Given the description of an element on the screen output the (x, y) to click on. 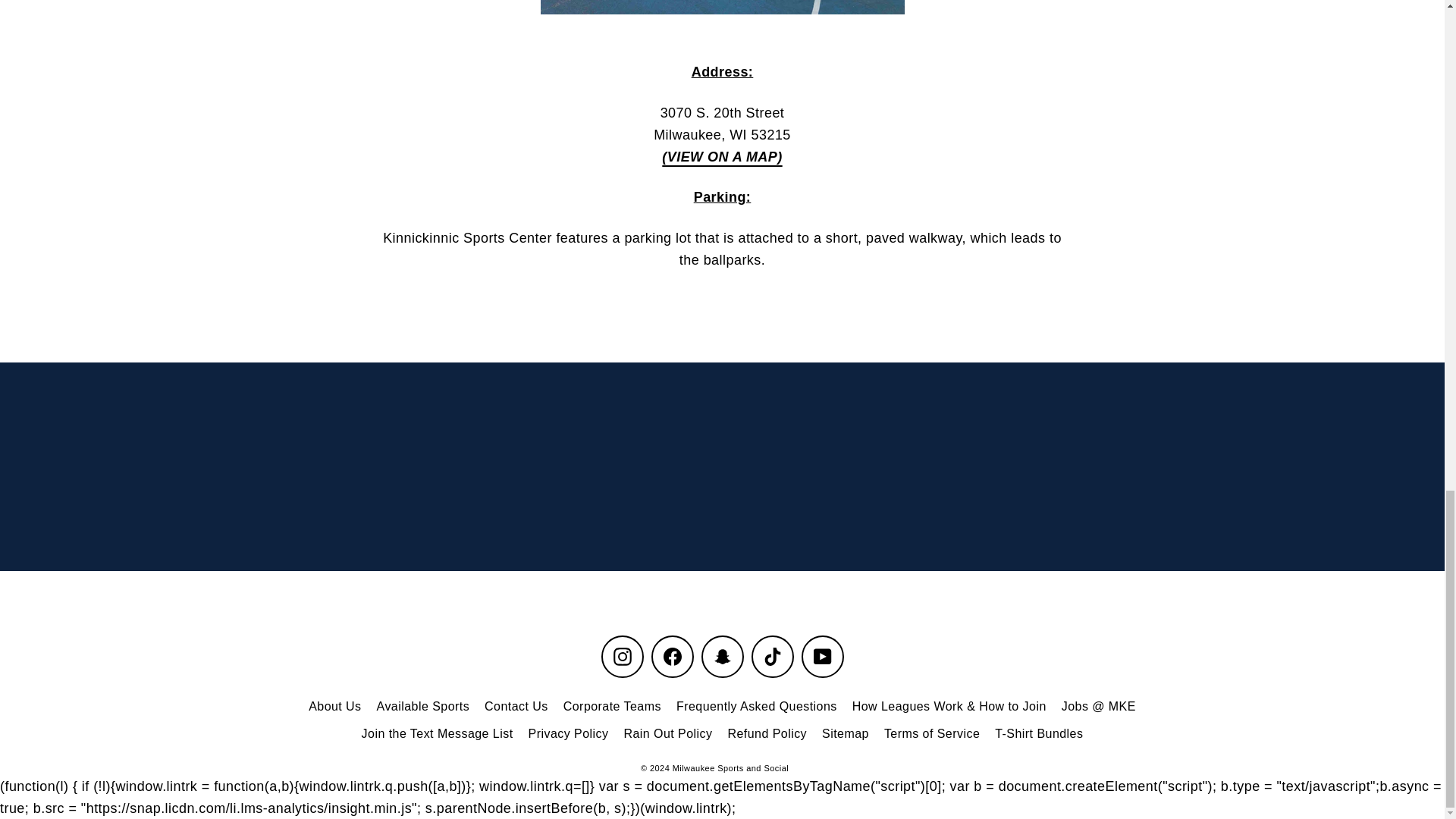
Milwaukee Sports and Social on Snapchat (721, 656)
Milwaukee Sports and Social on Facebook (671, 656)
Milwaukee Sports and Social on Instagram (621, 656)
Milwaukee Sports and Social on YouTube (821, 656)
Milwaukee Sports and Social on TikTok (772, 656)
